Given the description of an element on the screen output the (x, y) to click on. 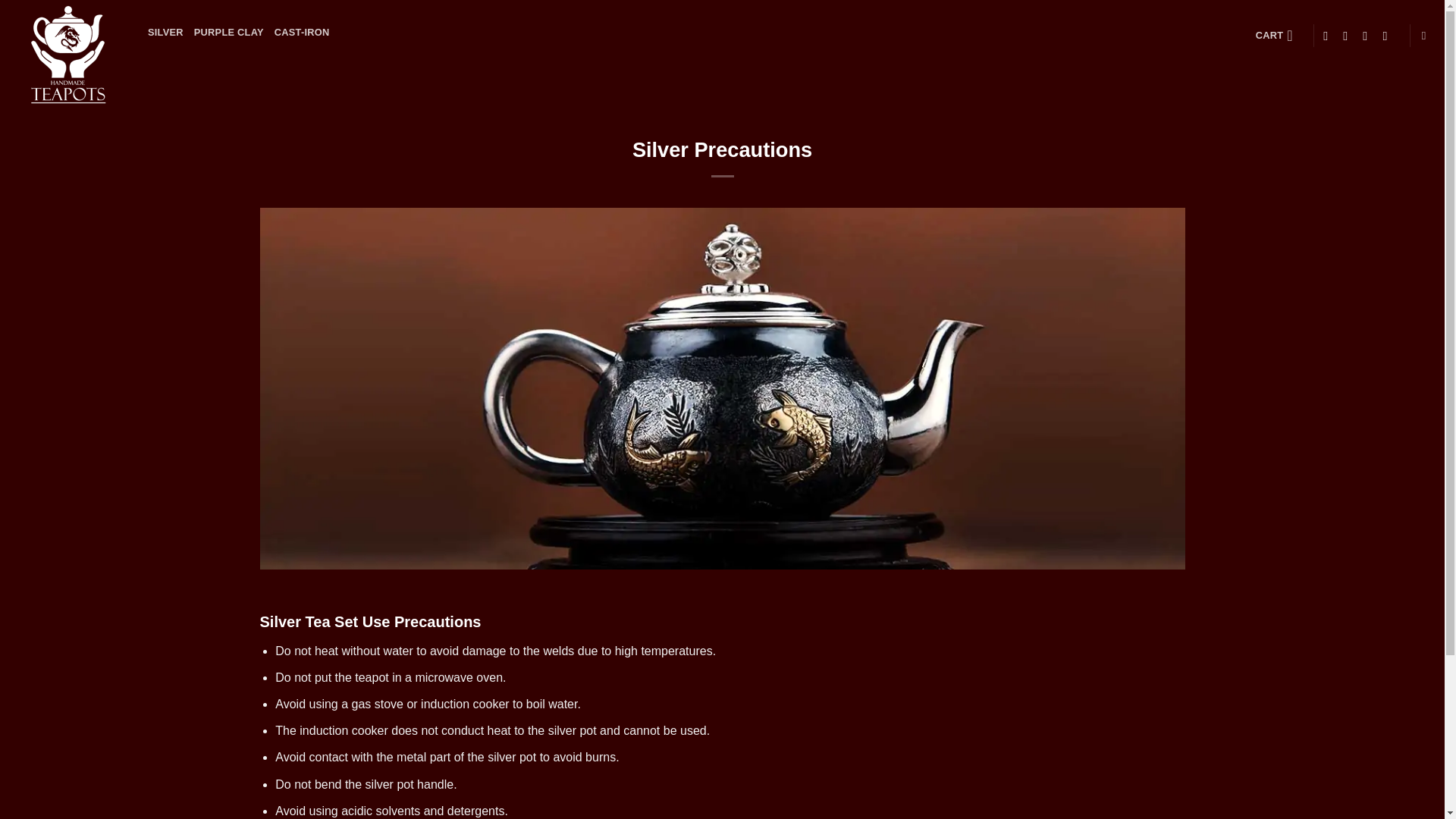
CART (1279, 35)
Follow on Facebook (1329, 35)
induction cooker (343, 730)
CAST-IRON (302, 31)
Cart (1279, 35)
Follow on Pinterest (1387, 35)
SILVER (165, 31)
Handmade Asian Teapots - World's Most Exclusive Teapots (68, 56)
PURPLE CLAY (228, 31)
Follow on Twitter (1368, 35)
